Given the description of an element on the screen output the (x, y) to click on. 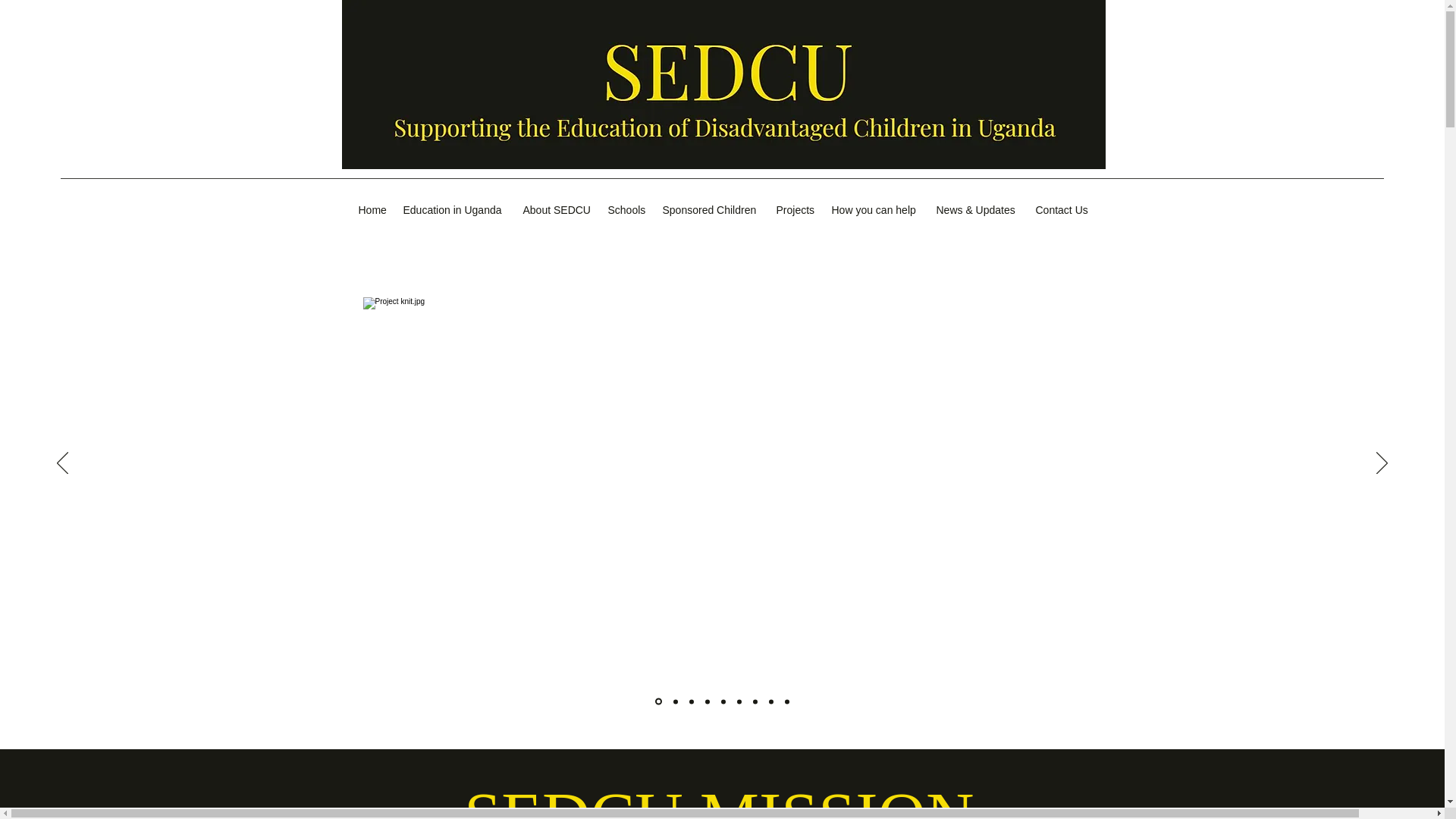
Education in Uganda (455, 209)
About SEDCU (557, 209)
Schools (627, 209)
Contact Us (1063, 209)
How you can help (876, 209)
Projects (796, 209)
Sponsored Children (711, 209)
